Given the description of an element on the screen output the (x, y) to click on. 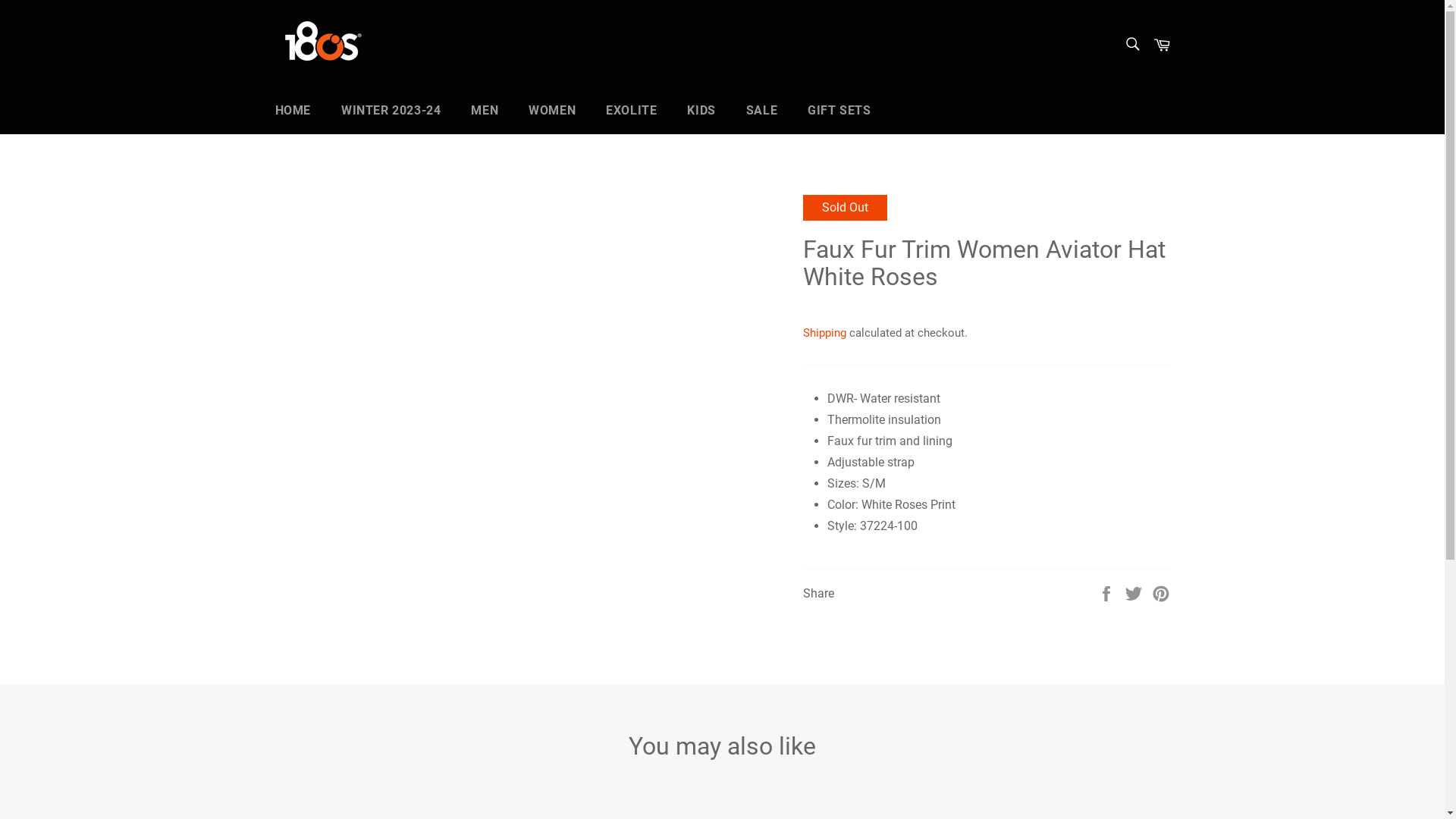
MEN Element type: text (484, 110)
WINTER 2023-24 Element type: text (390, 110)
Share this on Pinterest Element type: hover (1160, 595)
SALE Element type: text (761, 110)
Share this on Twitter Element type: hover (1132, 595)
GIFT SETS Element type: text (838, 110)
WOMEN Element type: text (551, 110)
Share this on Facebook Element type: hover (1105, 595)
HOME Element type: text (299, 110)
180s USA LLC Element type: hover (350, 43)
EXOLITE Element type: text (630, 110)
KIDS Element type: text (700, 110)
